Given the description of an element on the screen output the (x, y) to click on. 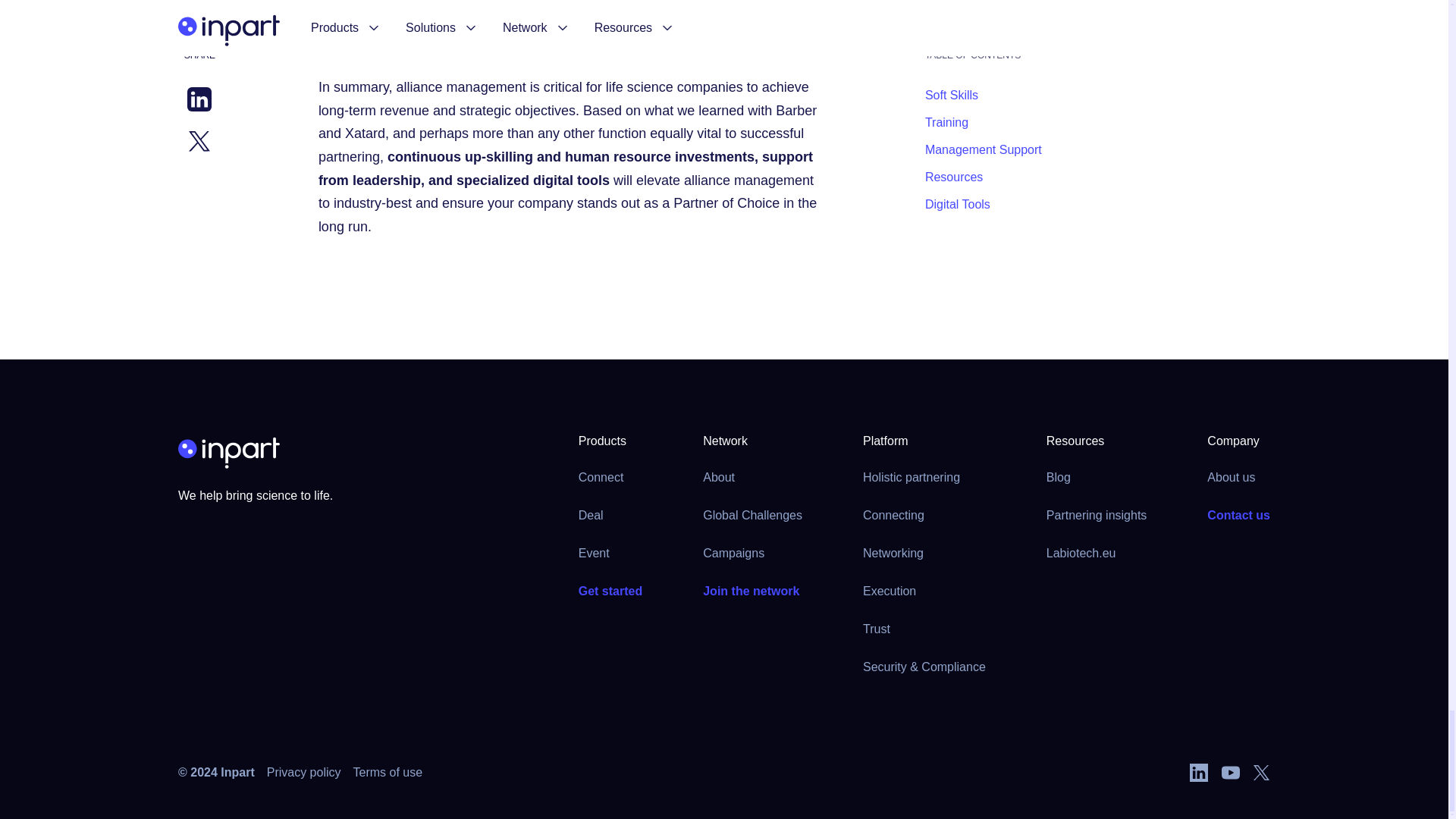
Trust (876, 629)
Event (594, 554)
Connect (601, 478)
About (719, 478)
Global Challenges (752, 516)
Campaigns (733, 554)
Deal (591, 516)
Partnering insights (1096, 516)
Networking (893, 554)
Connecting (893, 516)
